Given the description of an element on the screen output the (x, y) to click on. 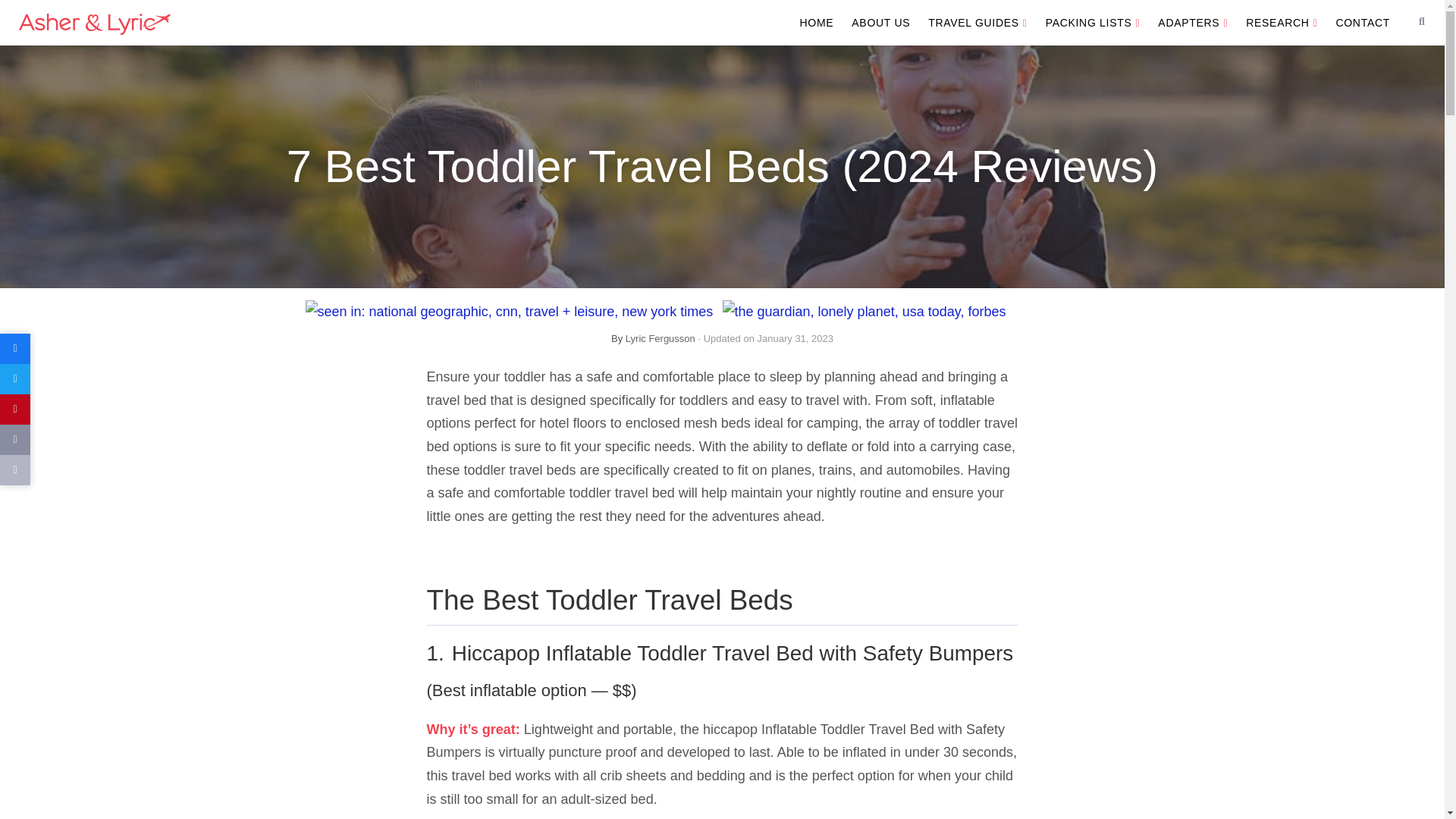
ABOUT US (880, 22)
TRAVEL GUIDES (976, 22)
HOME (816, 22)
Share on Facebook (15, 348)
